Given the description of an element on the screen output the (x, y) to click on. 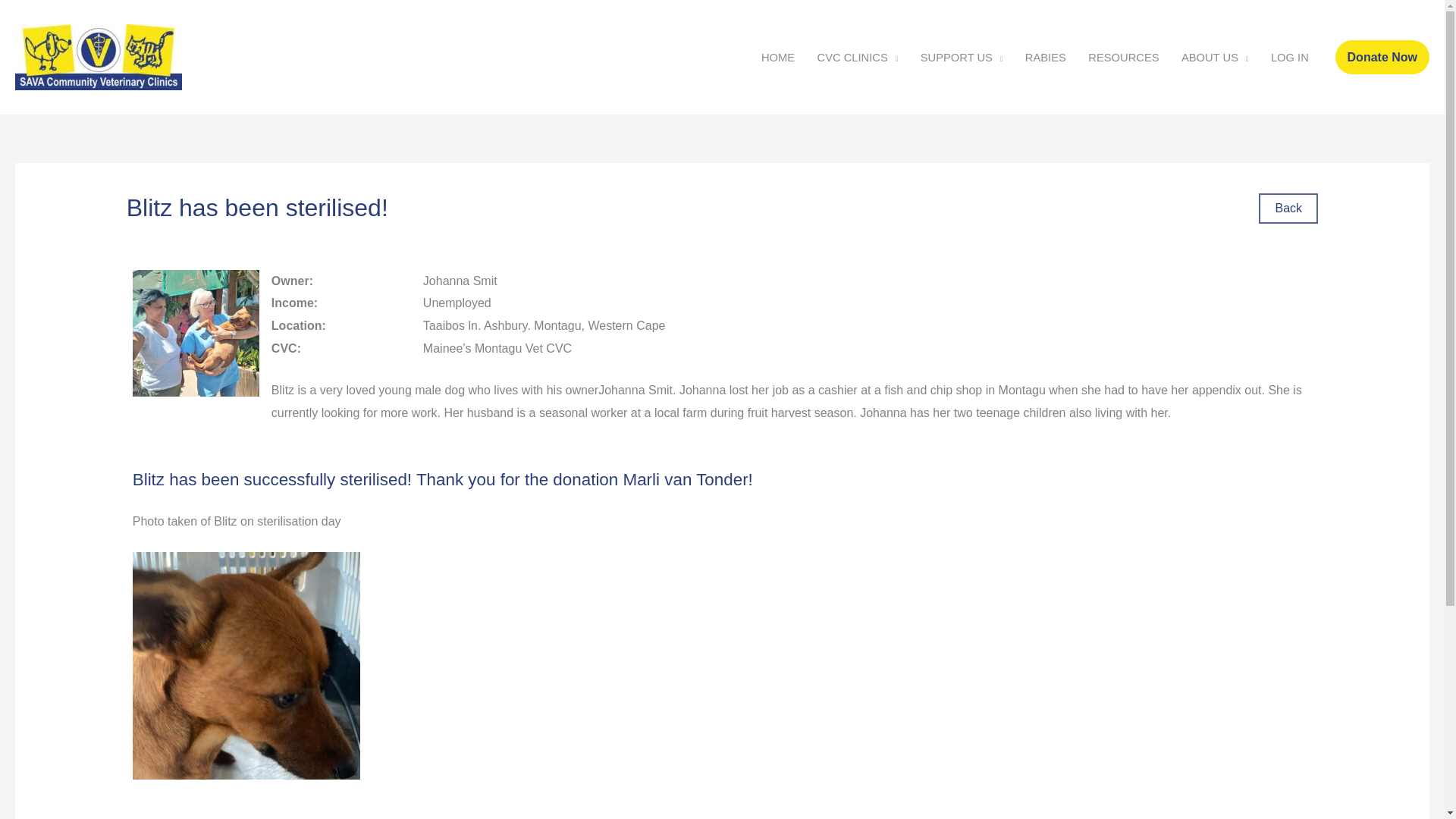
ABOUT US (1214, 56)
Donate to SAVA-CVC (1382, 57)
SUPPORT US (960, 56)
RABIES (1045, 56)
LOG IN (1289, 56)
HOME (777, 56)
CVC CLINICS (857, 56)
RESOURCES (1123, 56)
Donate Now (1382, 57)
